Given the description of an element on the screen output the (x, y) to click on. 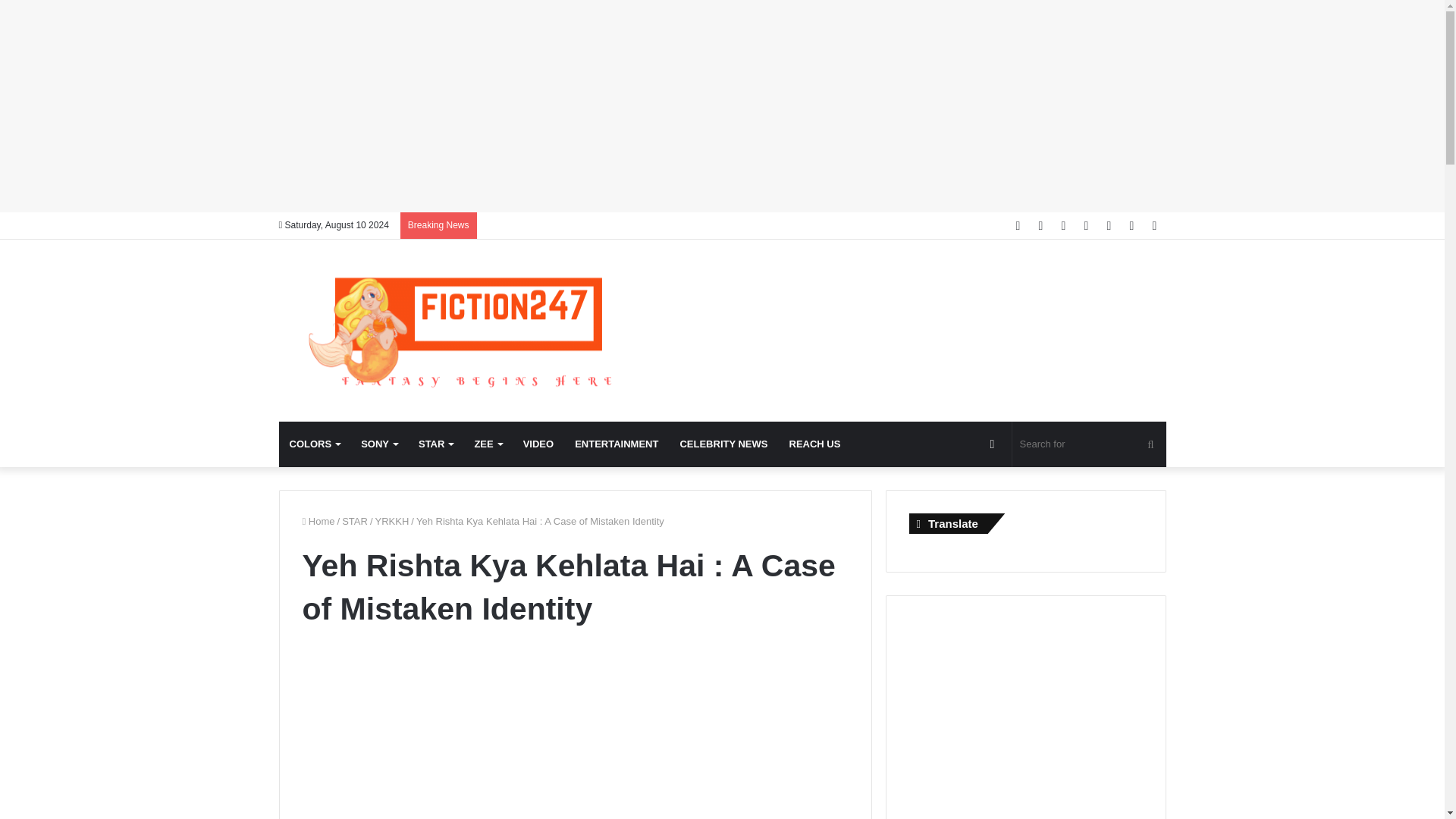
Fiction247 (468, 330)
Search for (1088, 443)
SONY (378, 443)
COLORS (314, 443)
STAR (435, 443)
Advertisement (574, 749)
